Given the description of an element on the screen output the (x, y) to click on. 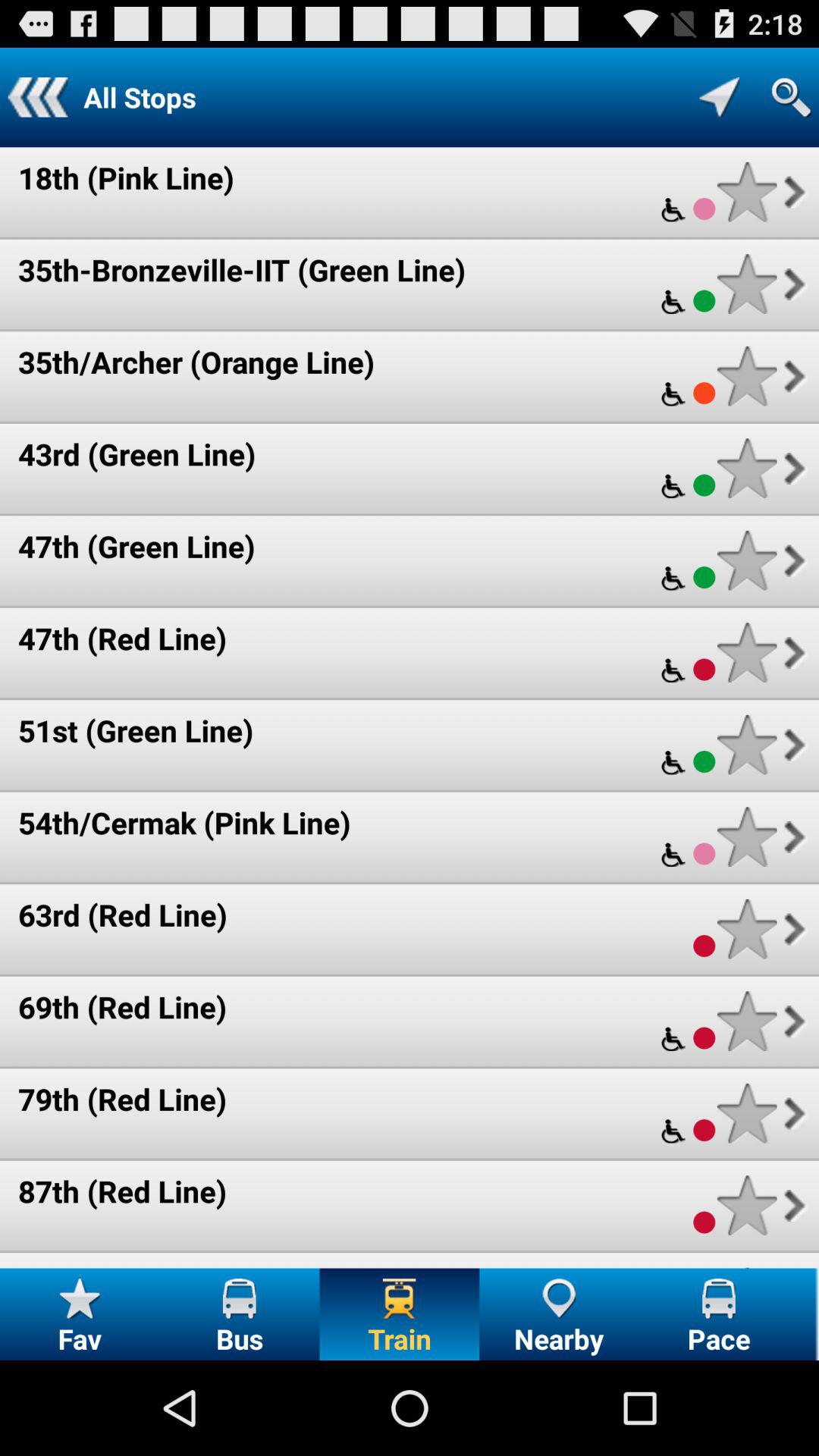
favorite this one (746, 191)
